Given the description of an element on the screen output the (x, y) to click on. 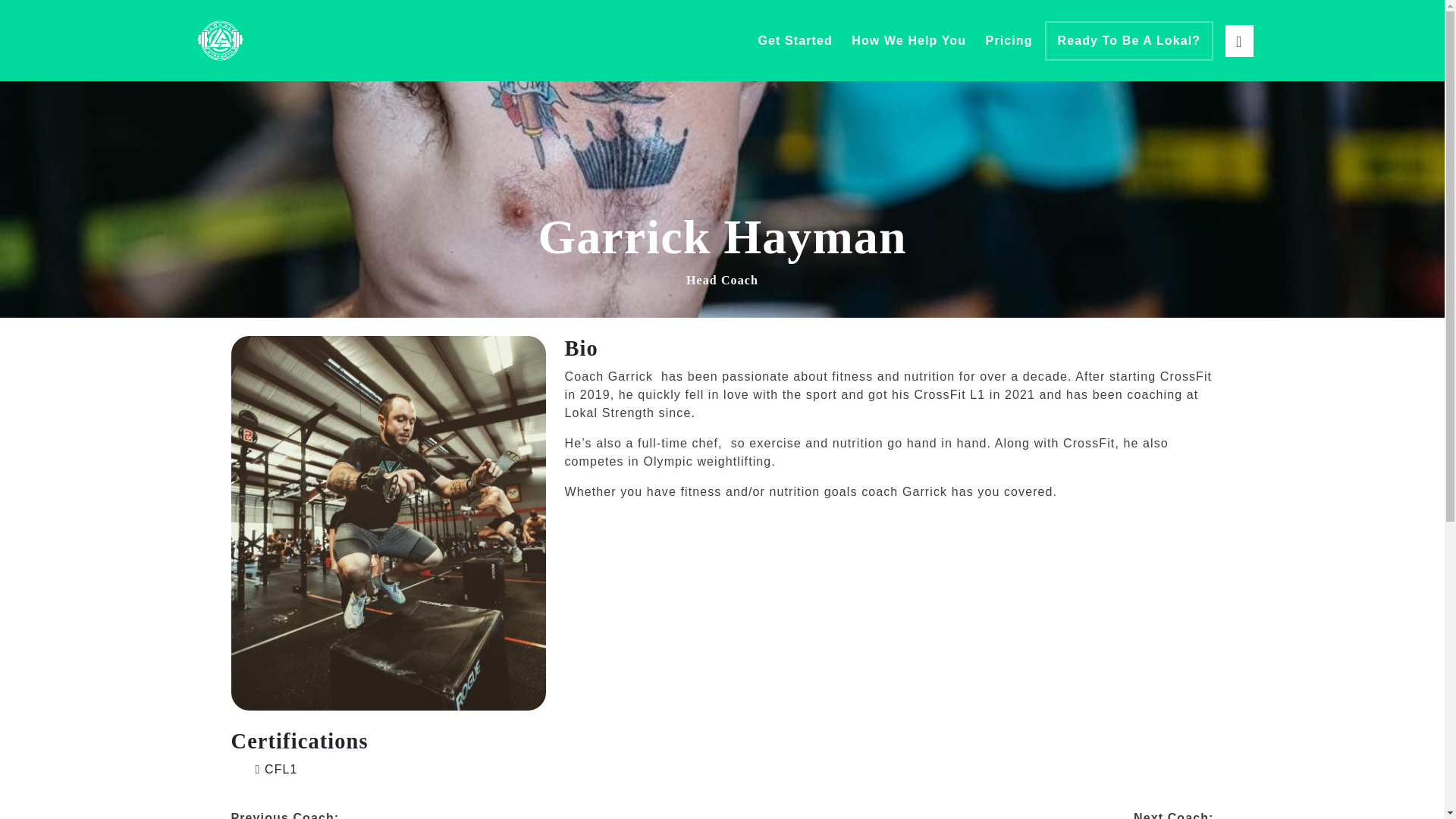
Get Started (794, 39)
Ready To Be A Lokal? (1129, 40)
Lokal Strength Crossfit (218, 40)
Pricing (1008, 39)
How We Help You (908, 39)
